Given the description of an element on the screen output the (x, y) to click on. 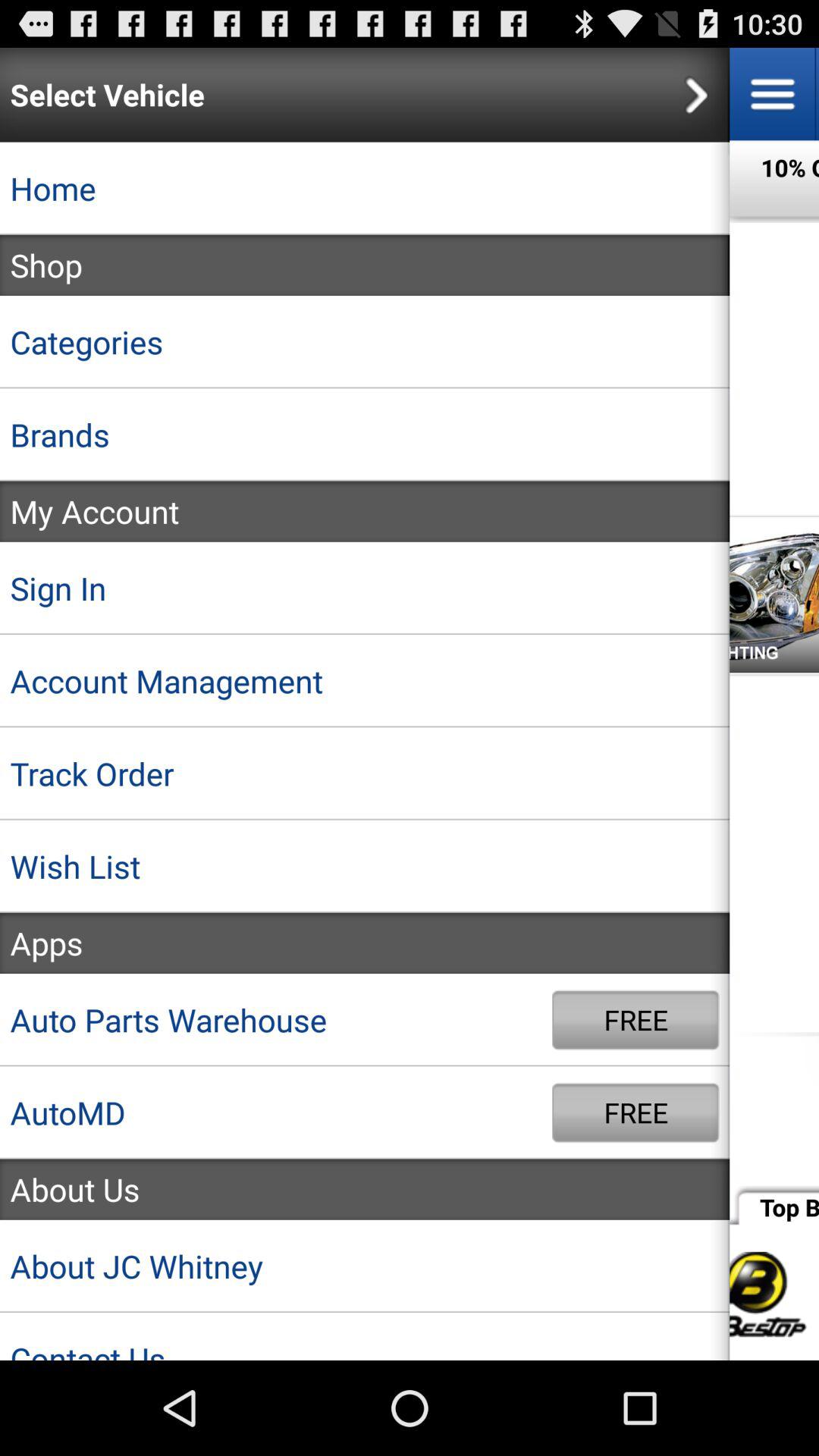
flip to wish list item (364, 866)
